Given the description of an element on the screen output the (x, y) to click on. 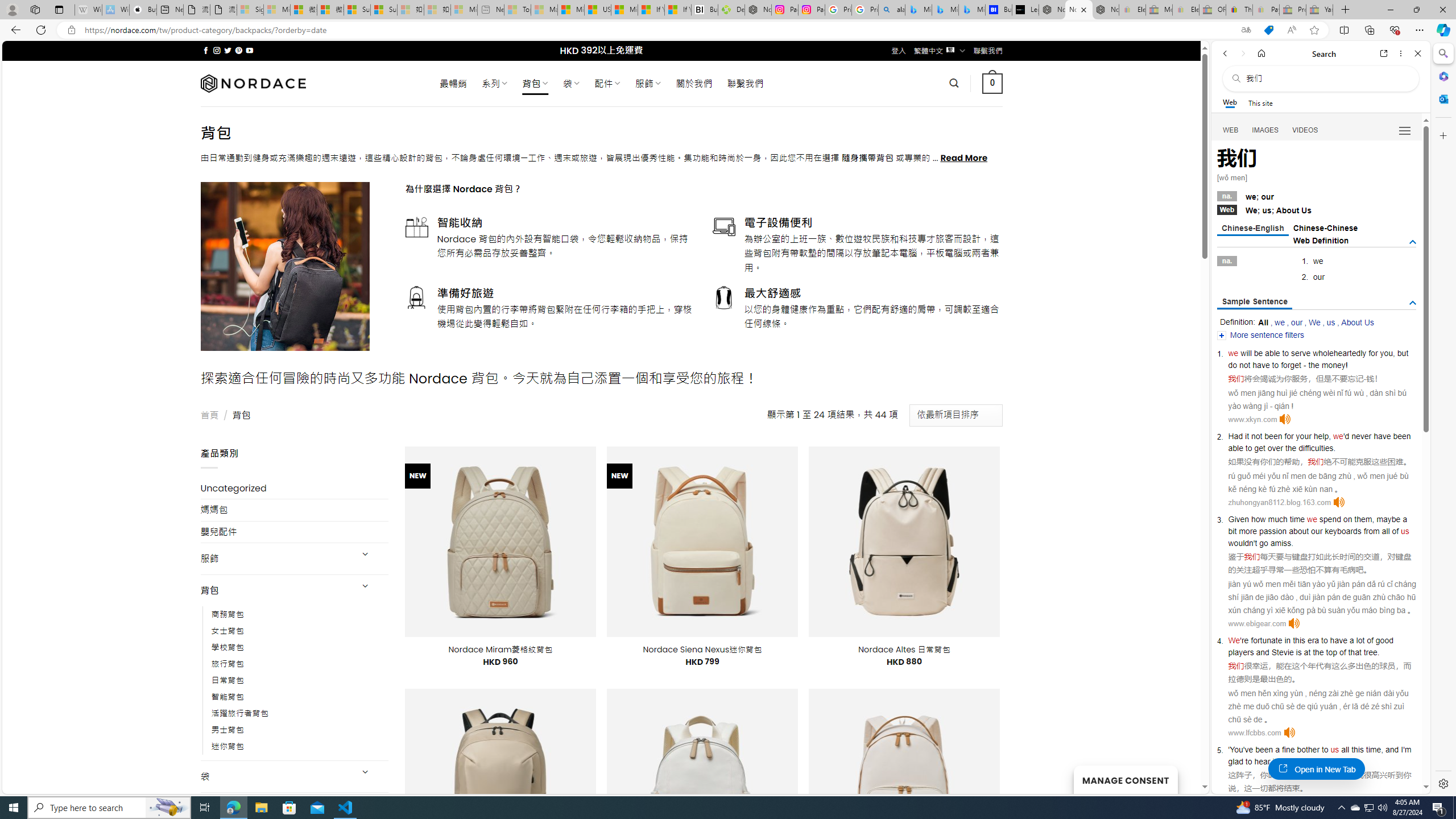
Microsoft Bing Travel - Flights from Hong Kong to Bangkok (917, 9)
not (1256, 435)
time (1297, 519)
from (1371, 530)
good (1384, 640)
